Given the description of an element on the screen output the (x, y) to click on. 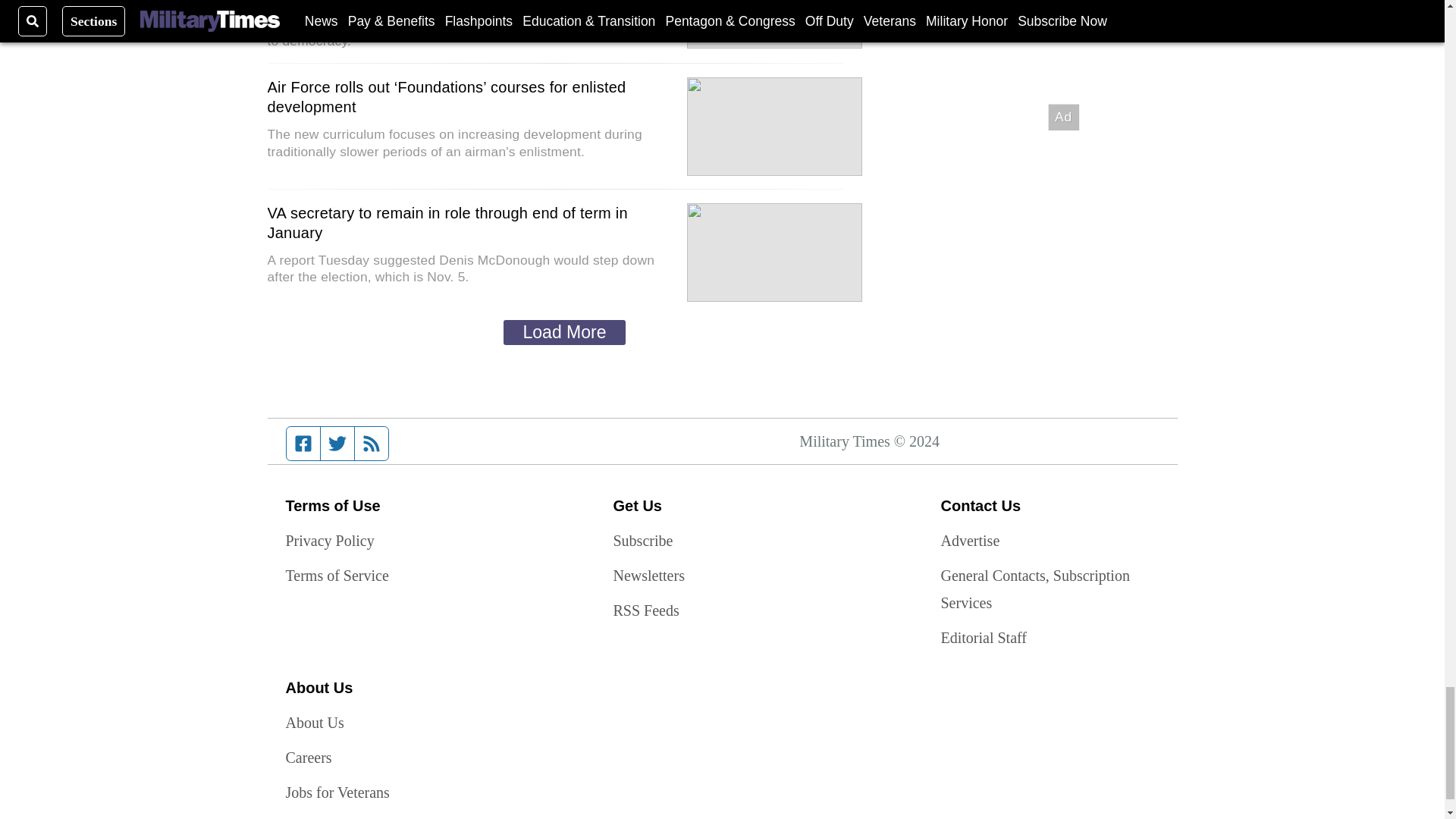
Facebook page (303, 443)
RSS feed (371, 443)
Twitter feed (336, 443)
